Given the description of an element on the screen output the (x, y) to click on. 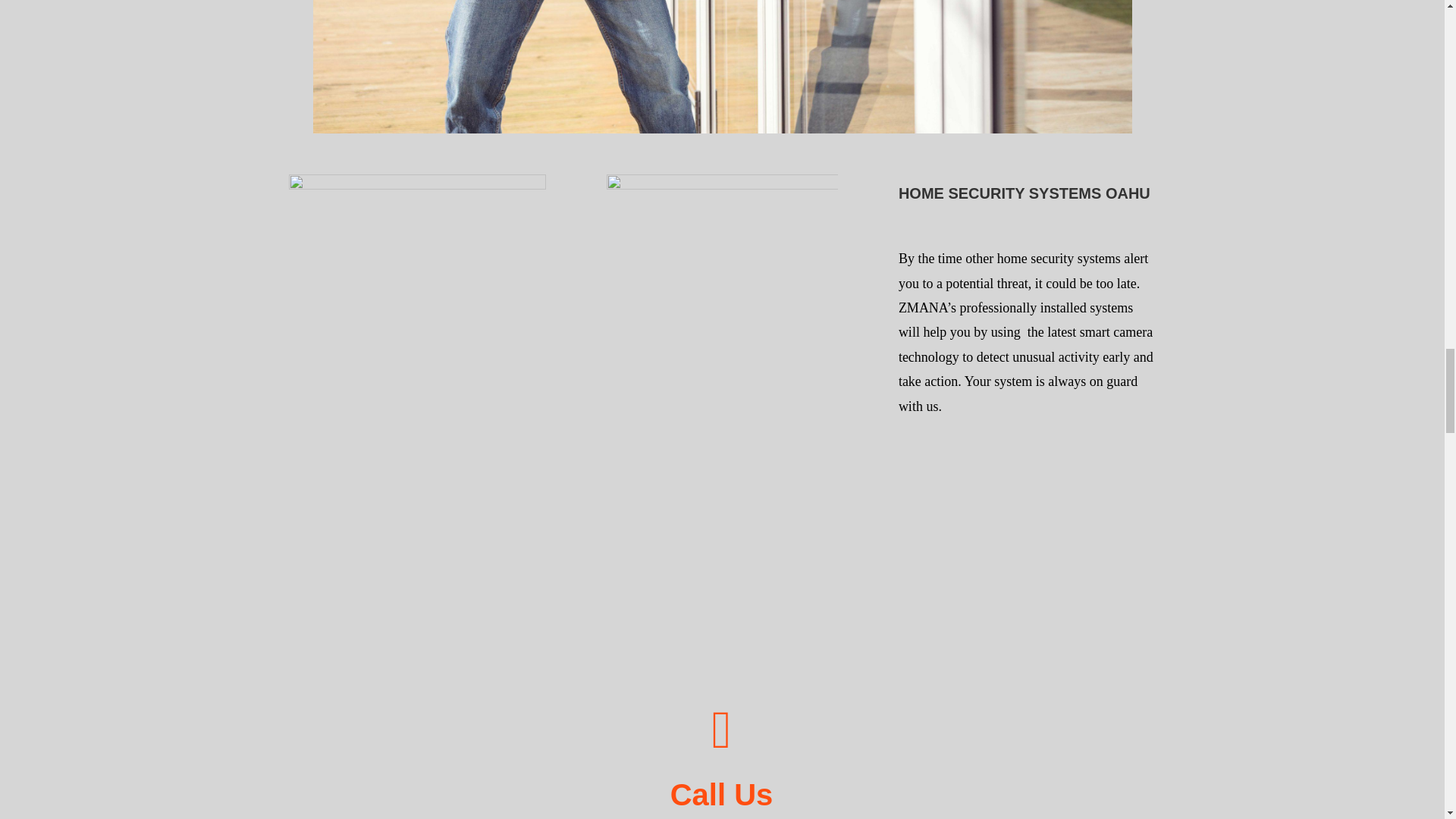
zmana-breakin (722, 66)
